Given the description of an element on the screen output the (x, y) to click on. 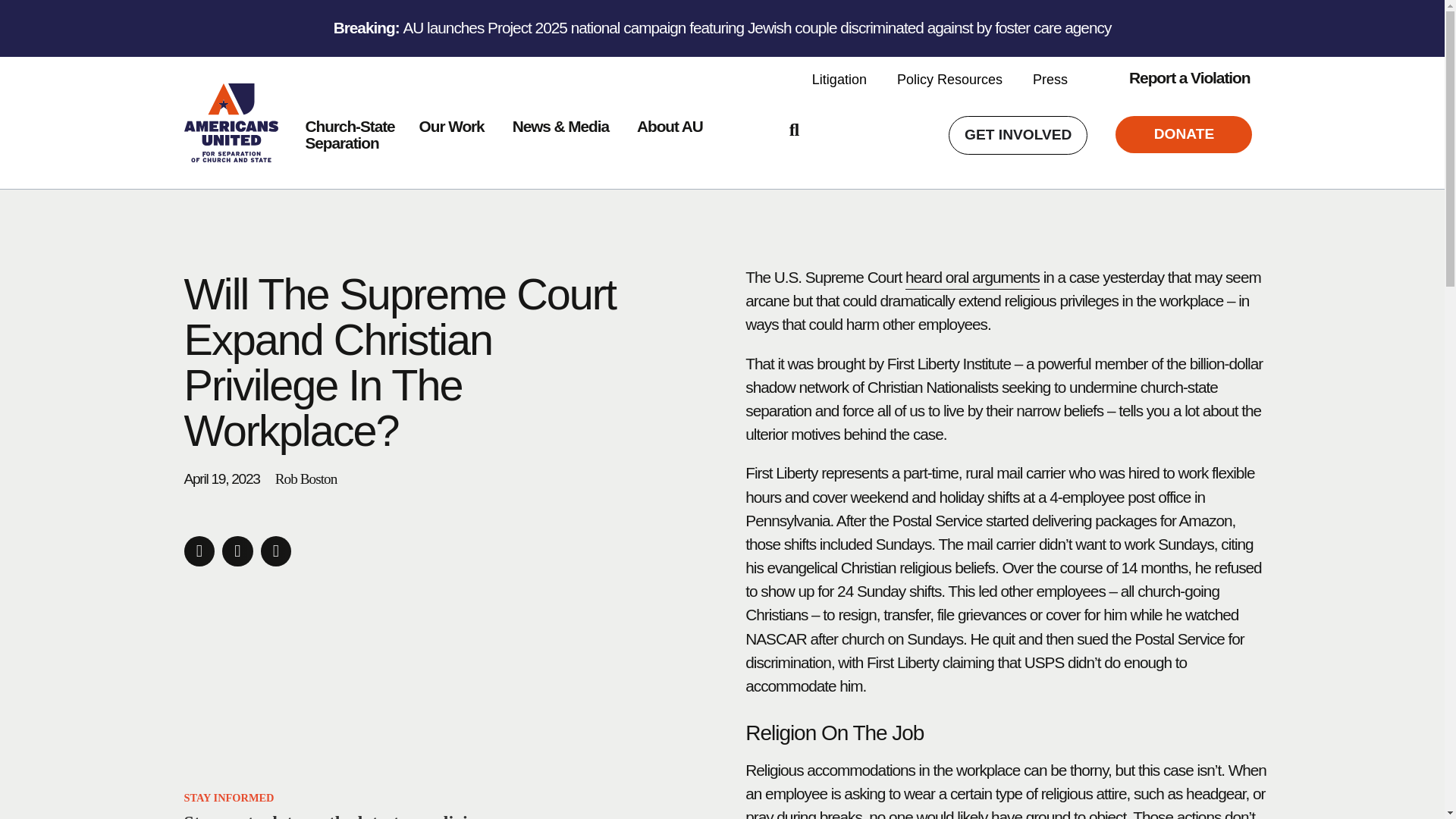
About AU (670, 126)
Our Work (451, 126)
Report a Violation (1177, 81)
Policy Resources (949, 79)
Our Work (451, 126)
Church-State Separation (349, 135)
Press (349, 135)
Report a Violation (1050, 79)
Litigation (1177, 81)
